Given the description of an element on the screen output the (x, y) to click on. 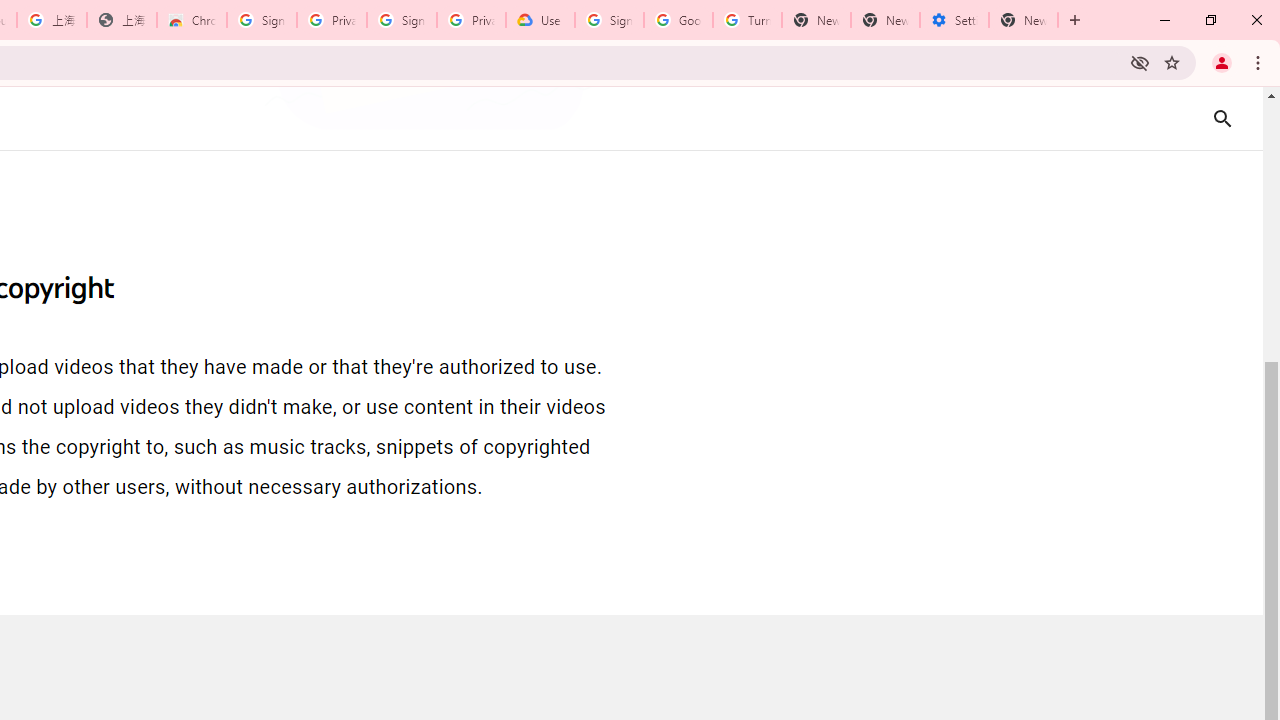
Settings - System (954, 20)
New Tab (1023, 20)
Sign in - Google Accounts (401, 20)
Search (1222, 118)
Sign in - Google Accounts (608, 20)
Turn cookies on or off - Computer - Google Account Help (747, 20)
